Given the description of an element on the screen output the (x, y) to click on. 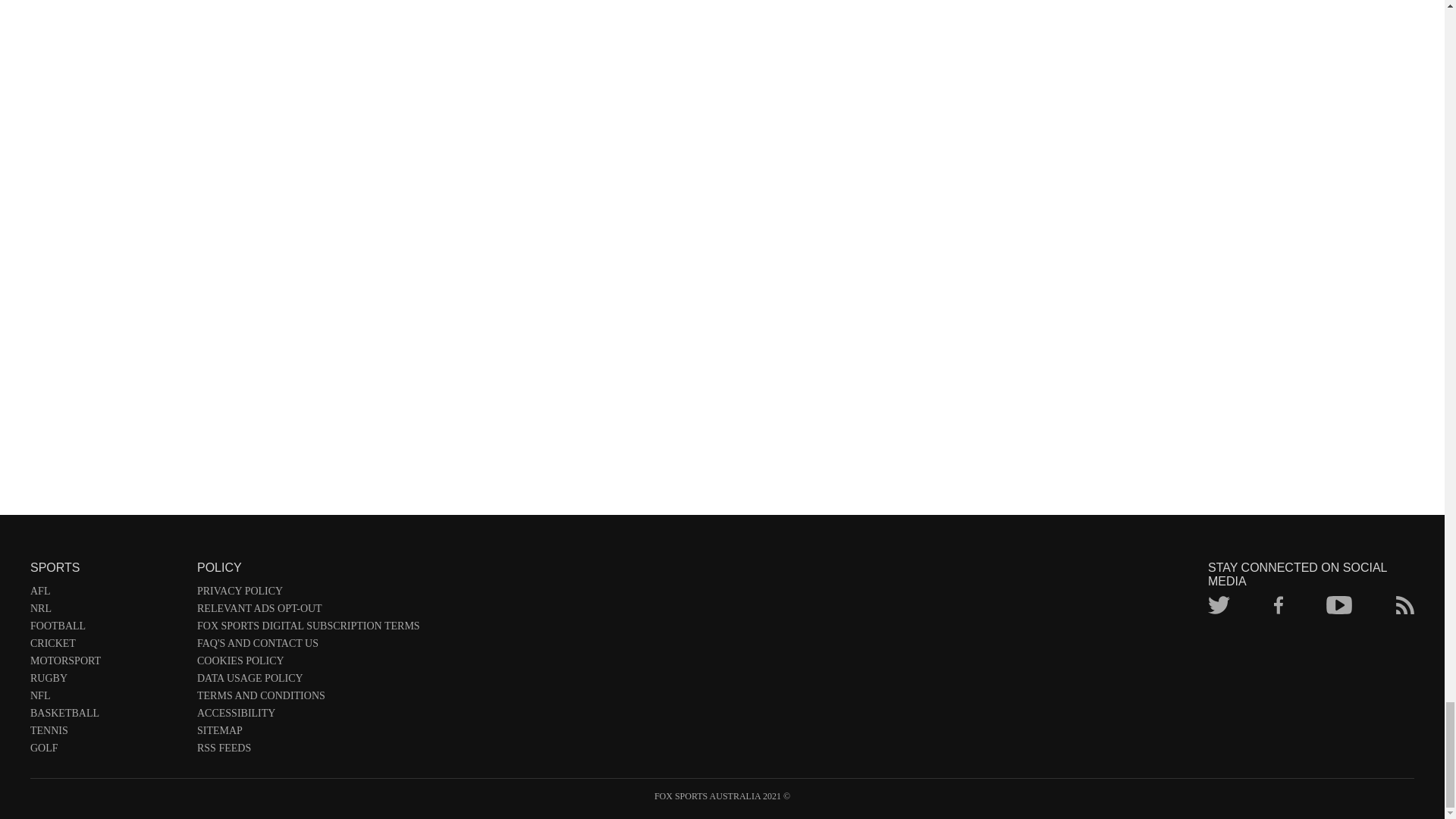
FAQ'S AND CONTACT US (308, 645)
RSS FEEDS (308, 750)
FOX SPORTS DIGITAL SUBSCRIPTION TERMS (308, 628)
NFL (106, 698)
RUGBY (106, 680)
TENNIS (106, 733)
CRICKET (106, 645)
TERMS AND CONDITIONS (308, 698)
BASKETBALL (106, 714)
COOKIES POLICY (308, 663)
